Given the description of an element on the screen output the (x, y) to click on. 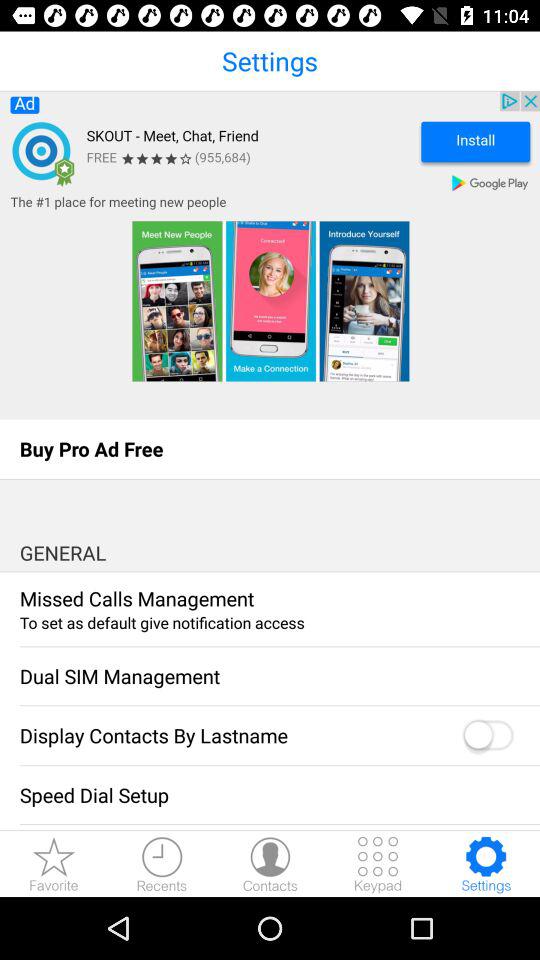
open recents (161, 864)
